Given the description of an element on the screen output the (x, y) to click on. 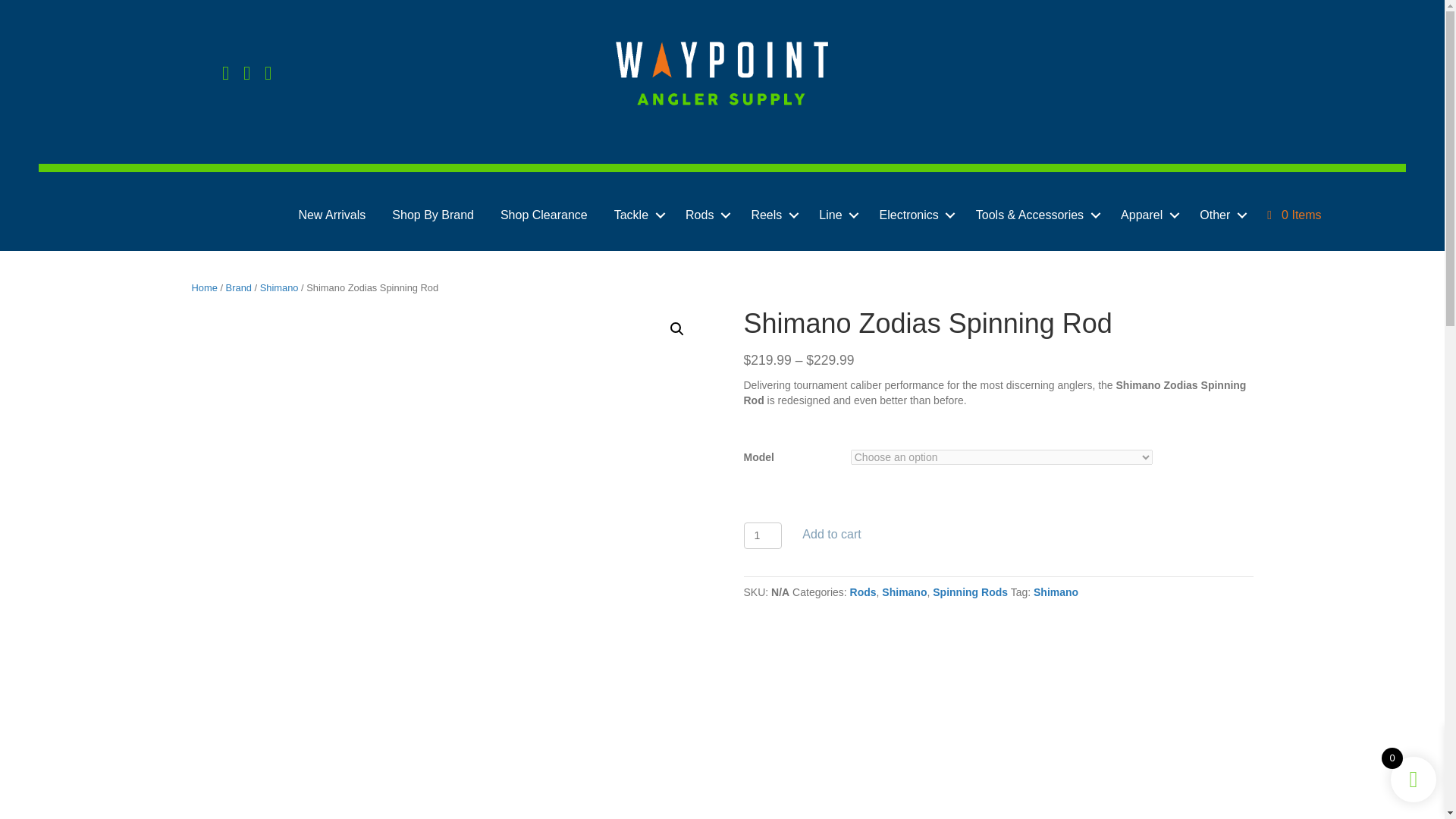
1 (761, 535)
Shop Clearance (543, 214)
Start shopping (1293, 214)
Tackle (636, 214)
header logo animation resize invert green (721, 73)
New Arrivals (331, 214)
Shop By Brand (432, 214)
